Given the description of an element on the screen output the (x, y) to click on. 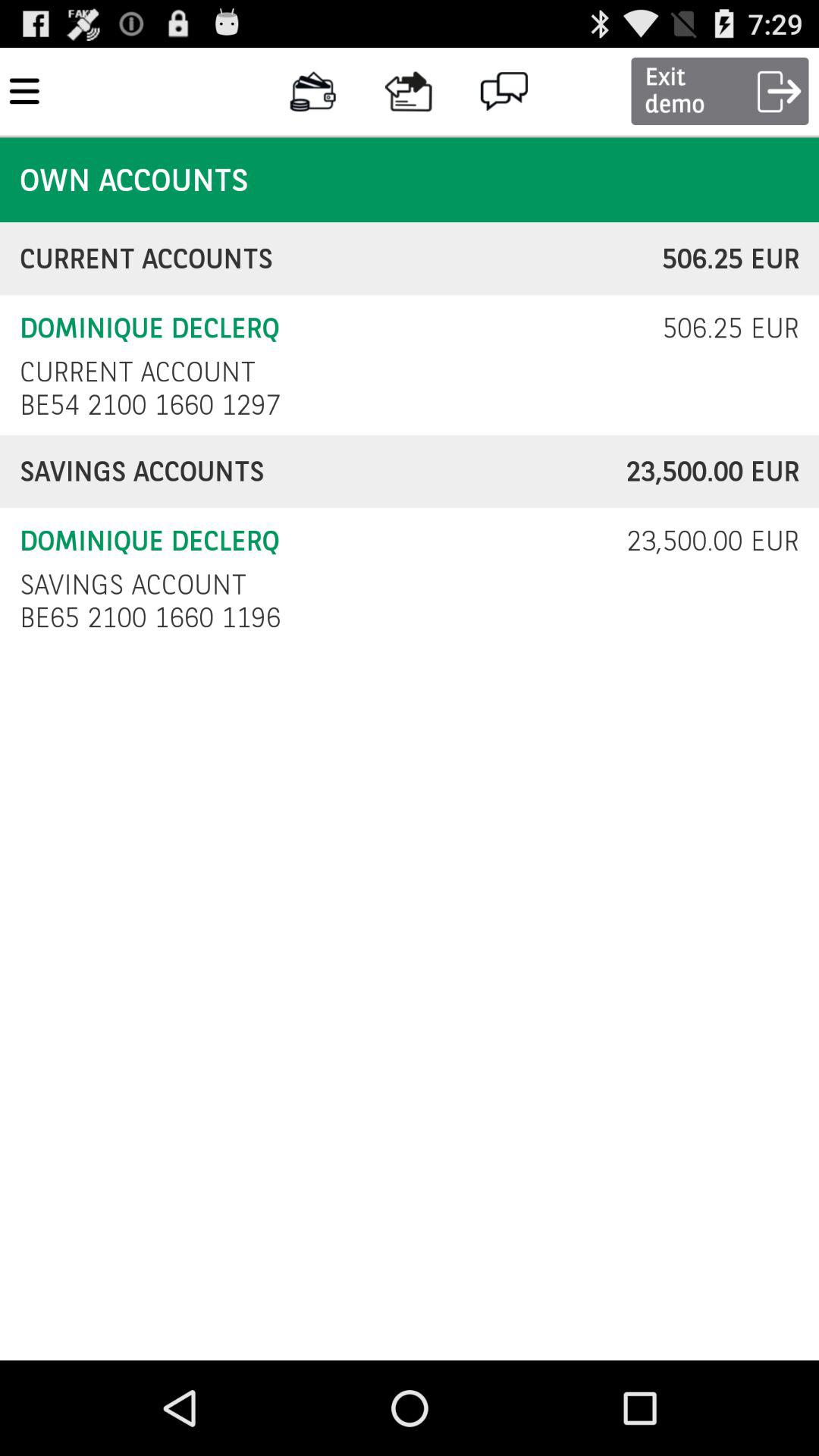
turn on item above the savings accounts icon (153, 404)
